Given the description of an element on the screen output the (x, y) to click on. 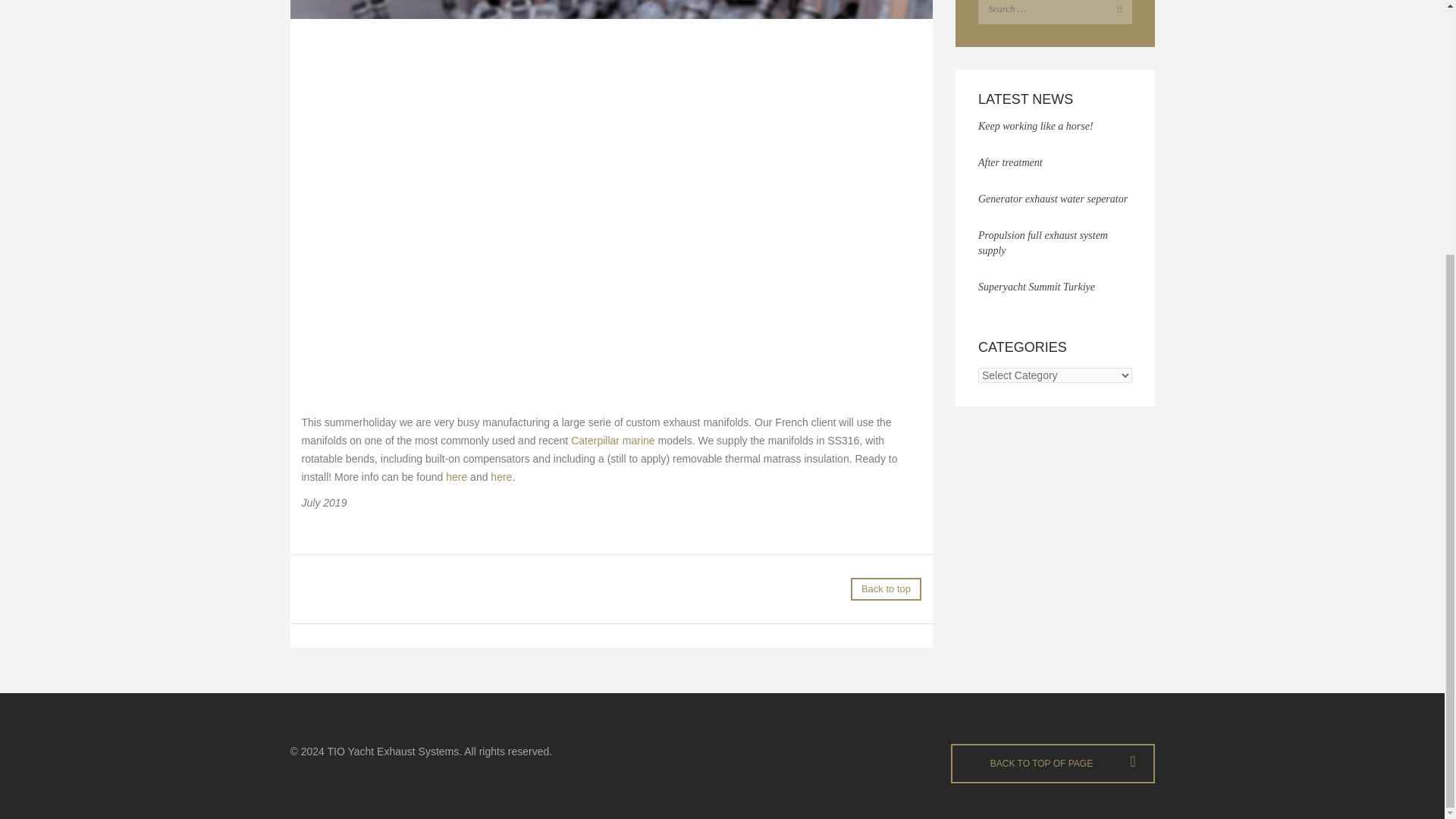
BACK TO TOP OF PAGE (1052, 762)
Search (1116, 11)
Superyacht Summit Turkiye (1036, 286)
Generator exhaust water seperator (1052, 198)
Caterpillar marine (611, 440)
here (501, 476)
Propulsion full exhaust system supply (1043, 243)
After treatment (1010, 162)
here (456, 476)
Search (1116, 11)
